Given the description of an element on the screen output the (x, y) to click on. 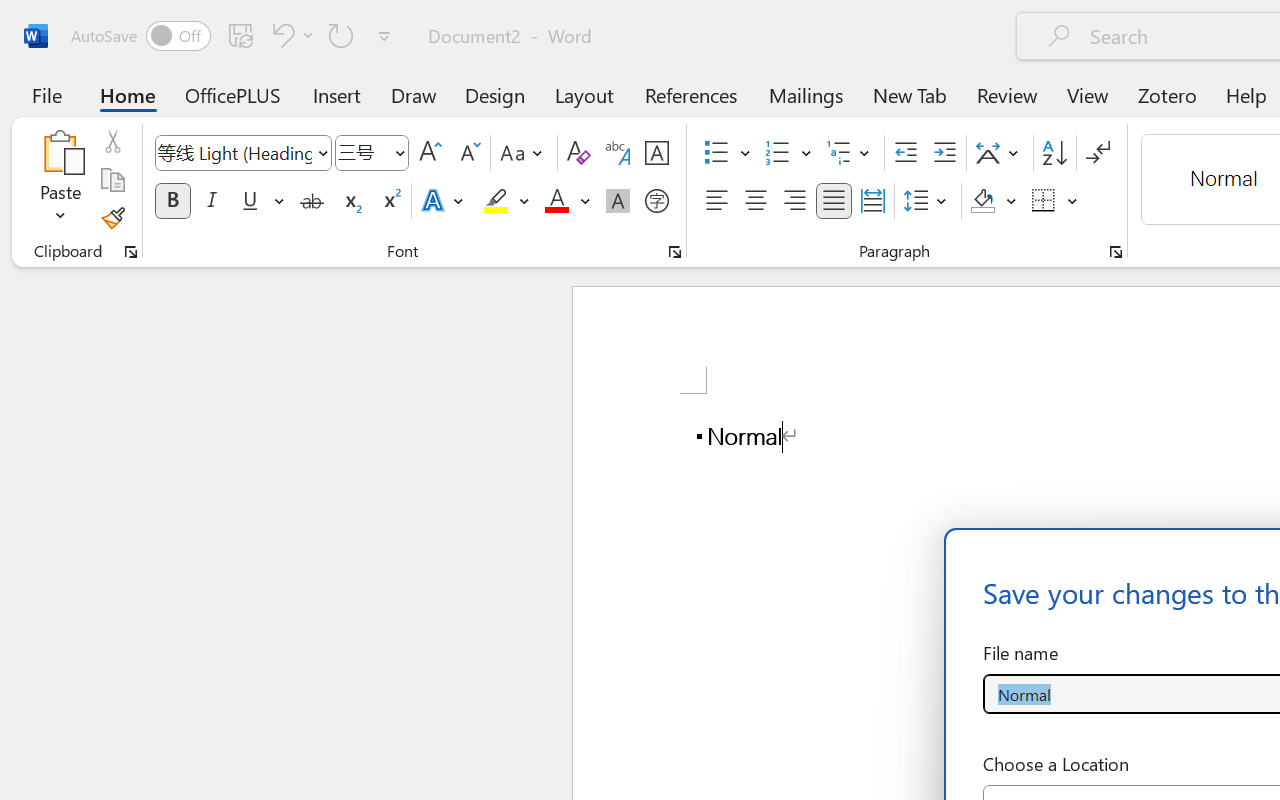
Text Highlight Color (506, 201)
Copy (112, 179)
Underline (261, 201)
Paragraph... (1115, 252)
Home (127, 94)
Font (242, 153)
Customize Quick Access Toolbar (384, 35)
Decrease Indent (906, 153)
Font Color Red (556, 201)
Phonetic Guide... (618, 153)
Text Highlight Color Yellow (495, 201)
Open (399, 152)
Multilevel List (850, 153)
OfficePLUS (233, 94)
Center (756, 201)
